Given the description of an element on the screen output the (x, y) to click on. 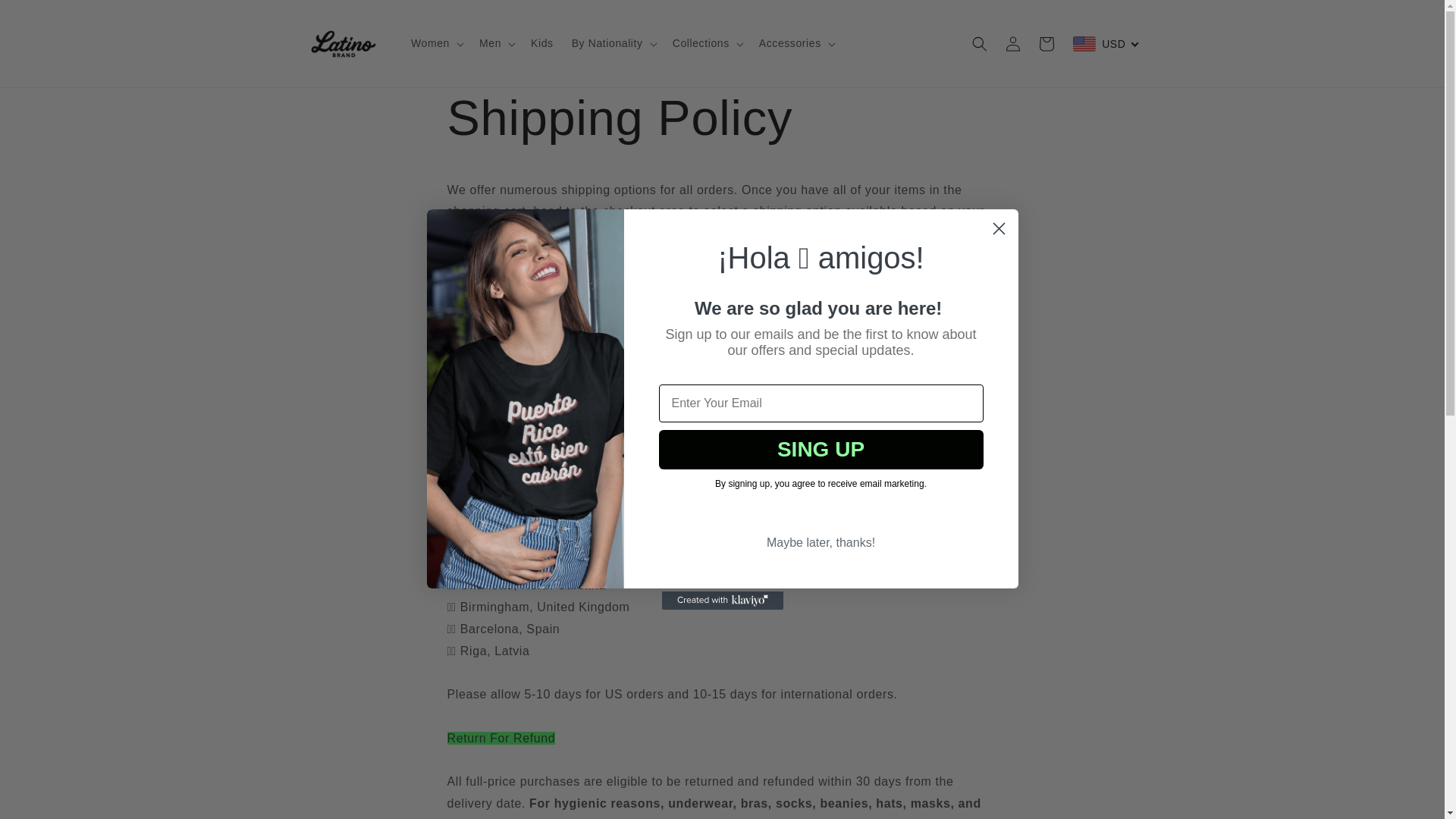
Skip to content (45, 17)
